Given the description of an element on the screen output the (x, y) to click on. 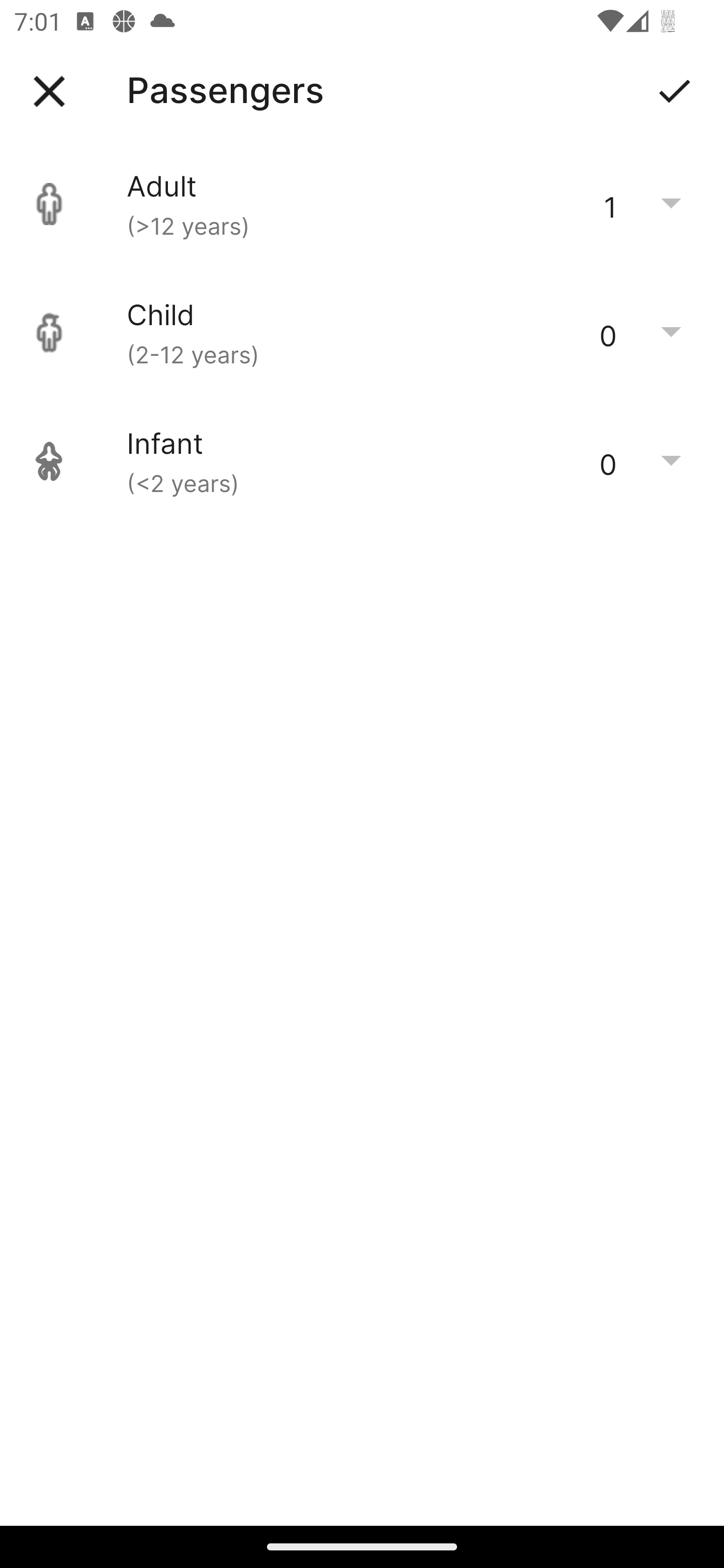
Adult (>12 years) 1 (362, 204)
Child (2-12 years) 0 (362, 332)
Infant (<2 years) 0 (362, 461)
